Given the description of an element on the screen output the (x, y) to click on. 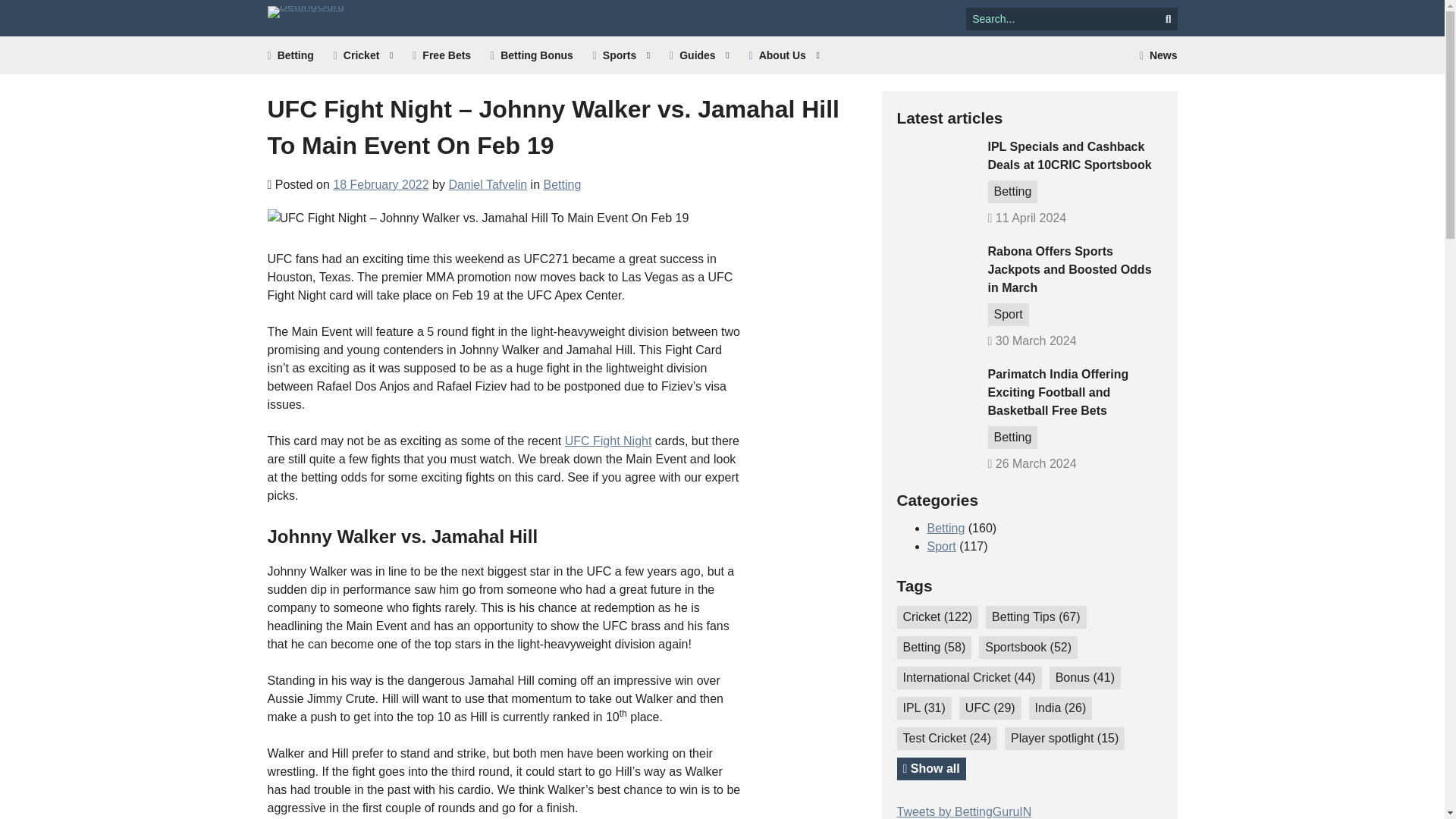
Sports (620, 55)
International Cricket Tag (968, 677)
Free Bets (441, 55)
Bonus Tag (1085, 677)
Betting (289, 55)
Guides (699, 55)
Betting Tips Tag (1035, 617)
Cricket (363, 55)
About Us (784, 55)
IPL Tag (923, 707)
